Given the description of an element on the screen output the (x, y) to click on. 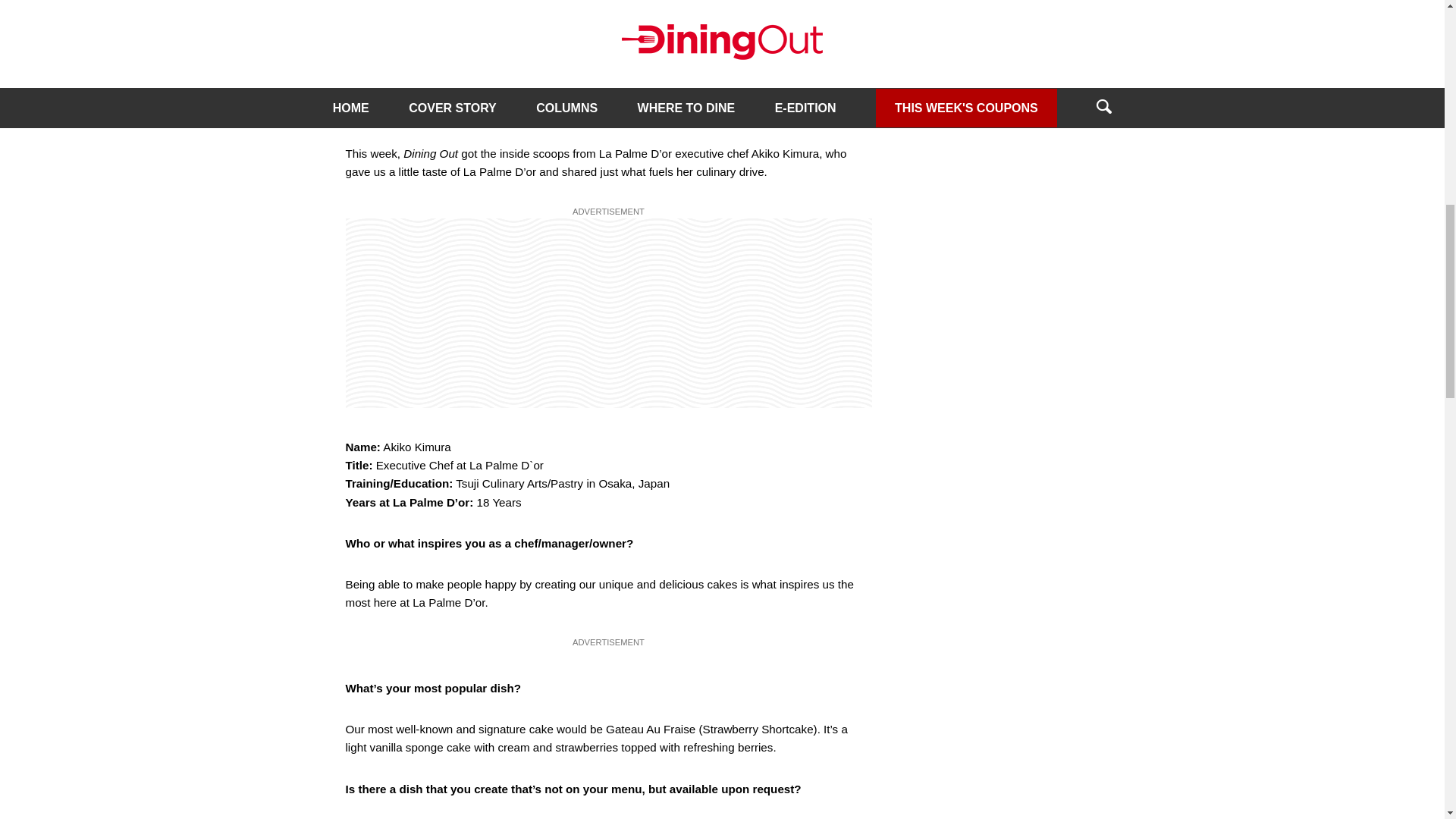
3rd party ad content (608, 312)
